Given the description of an element on the screen output the (x, y) to click on. 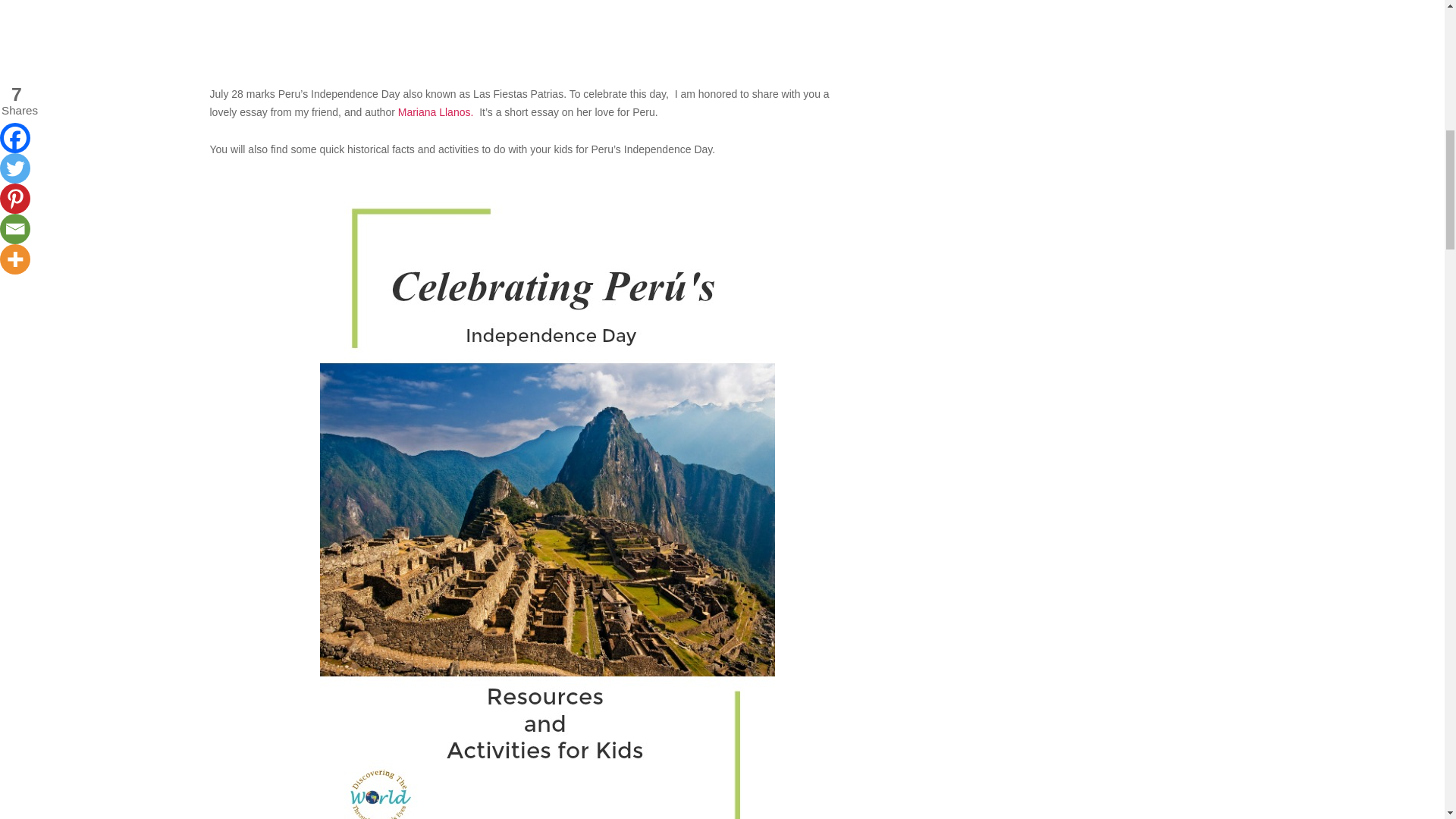
Mariana Llanos. (435, 111)
